Given the description of an element on the screen output the (x, y) to click on. 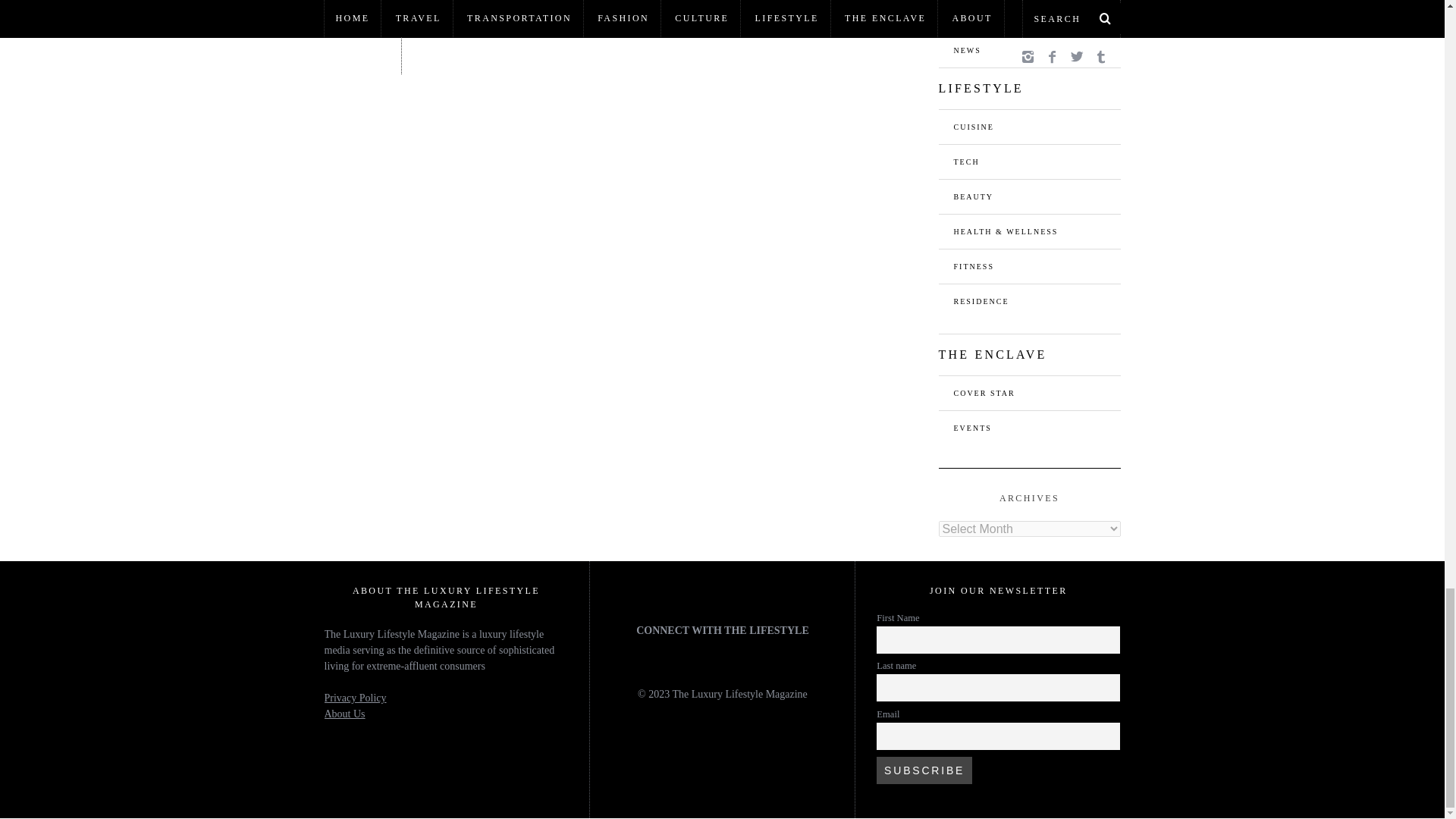
Subscribe (924, 769)
